Given the description of an element on the screen output the (x, y) to click on. 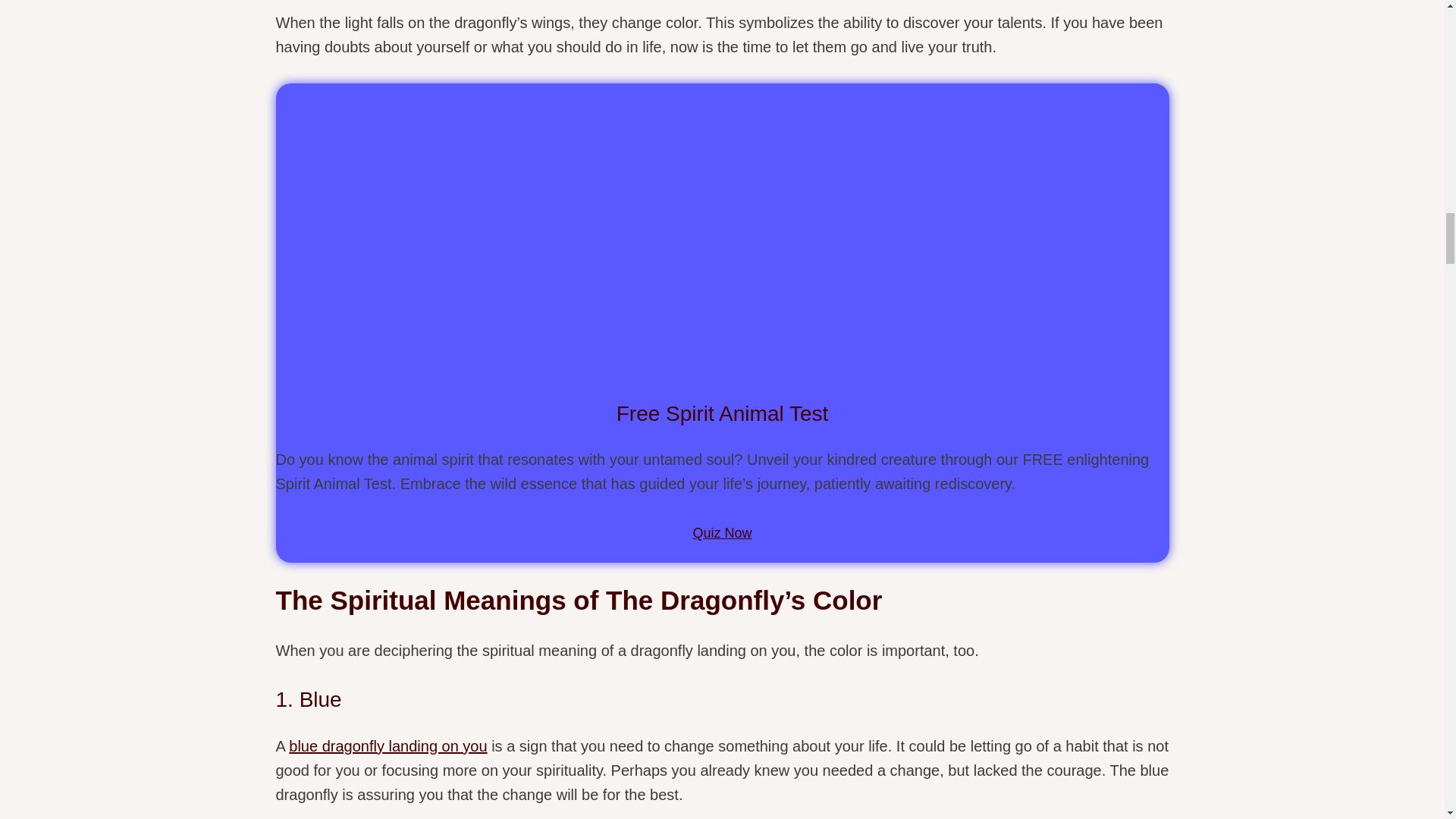
Quiz Now (721, 532)
blue dragonfly landing on you (387, 745)
